Given the description of an element on the screen output the (x, y) to click on. 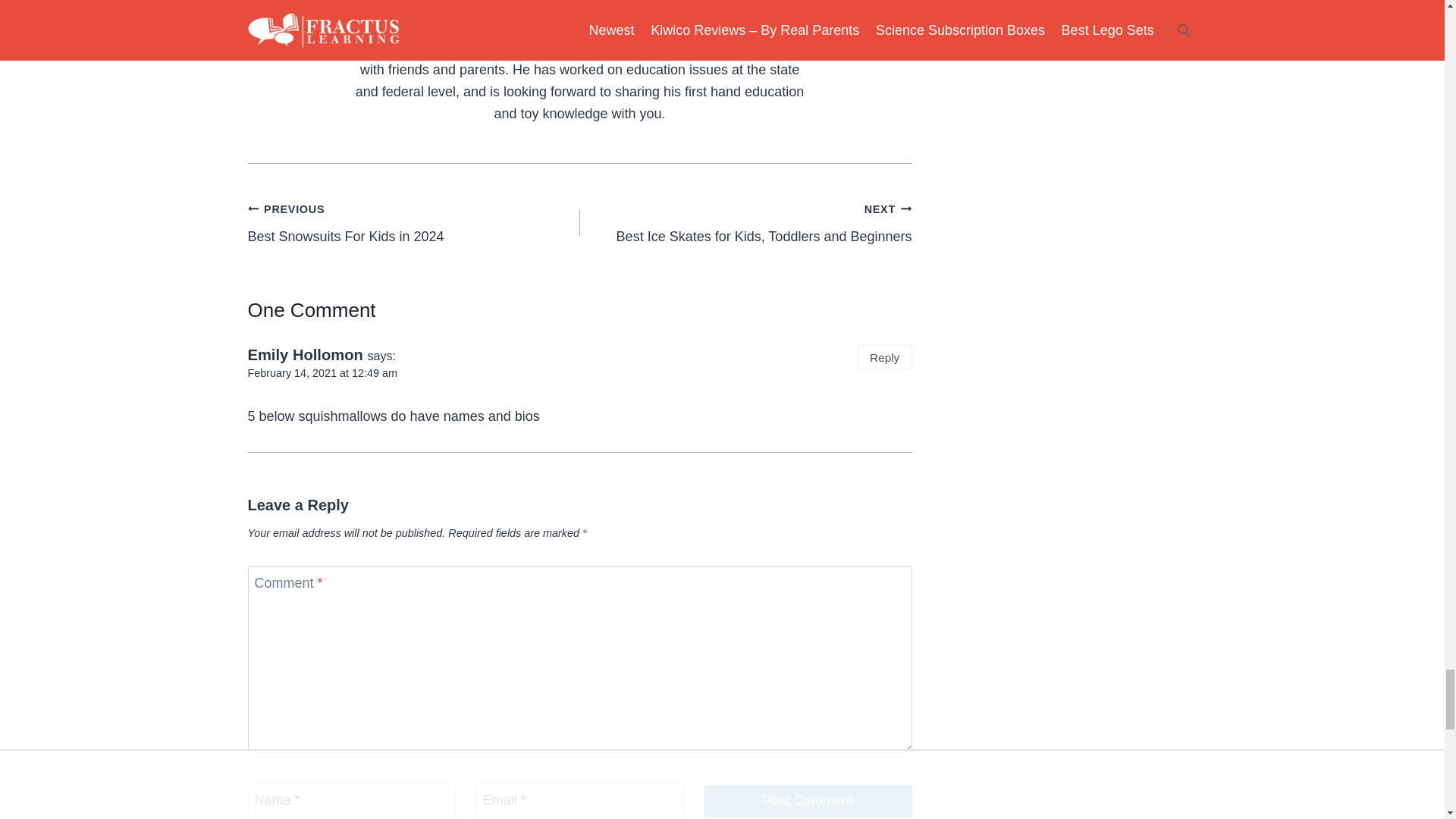
February 14, 2021 at 12:49 am (745, 223)
Reply (322, 372)
Post Comment (413, 223)
